Given the description of an element on the screen output the (x, y) to click on. 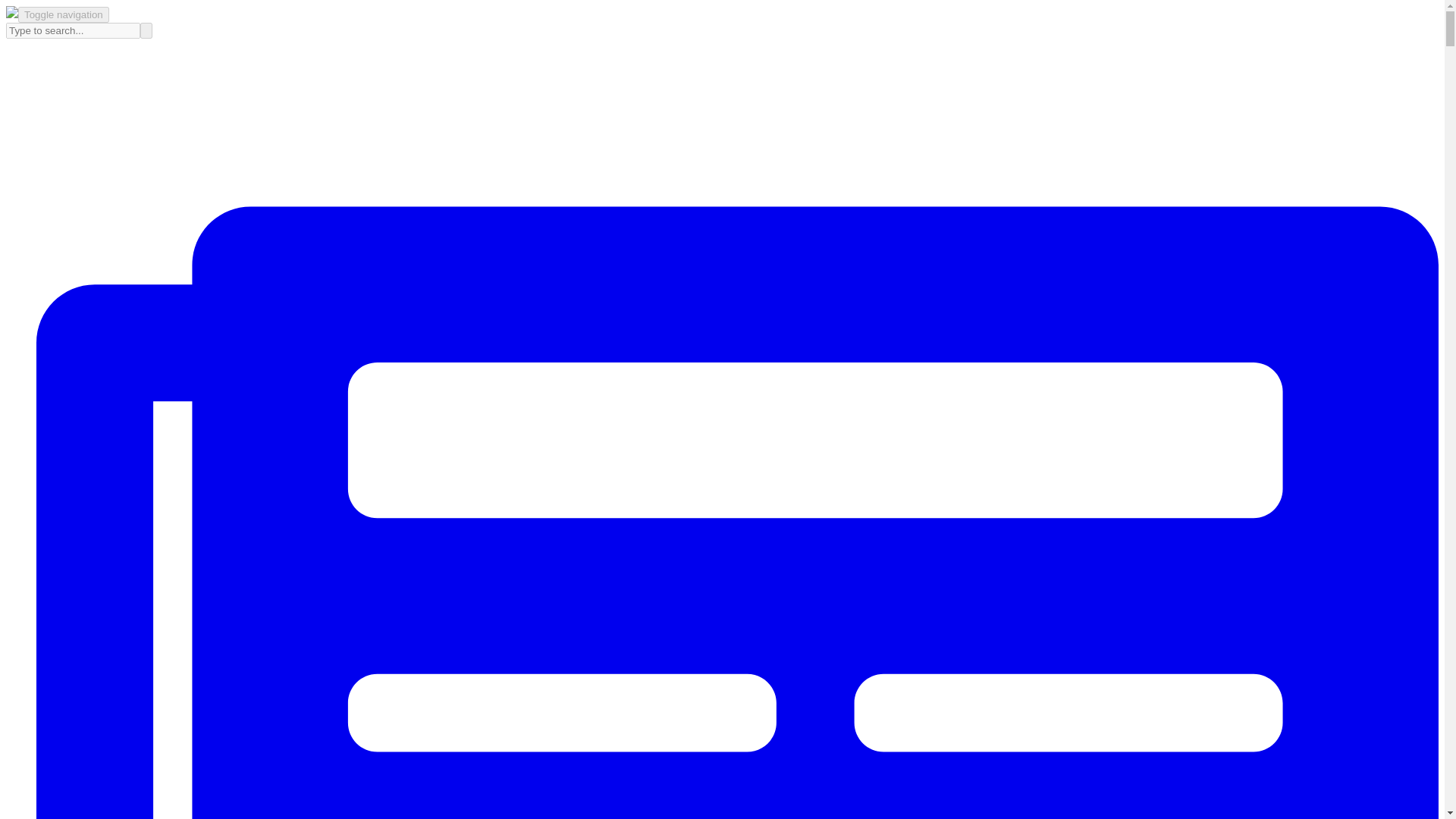
Toggle navigation (63, 14)
